Given the description of an element on the screen output the (x, y) to click on. 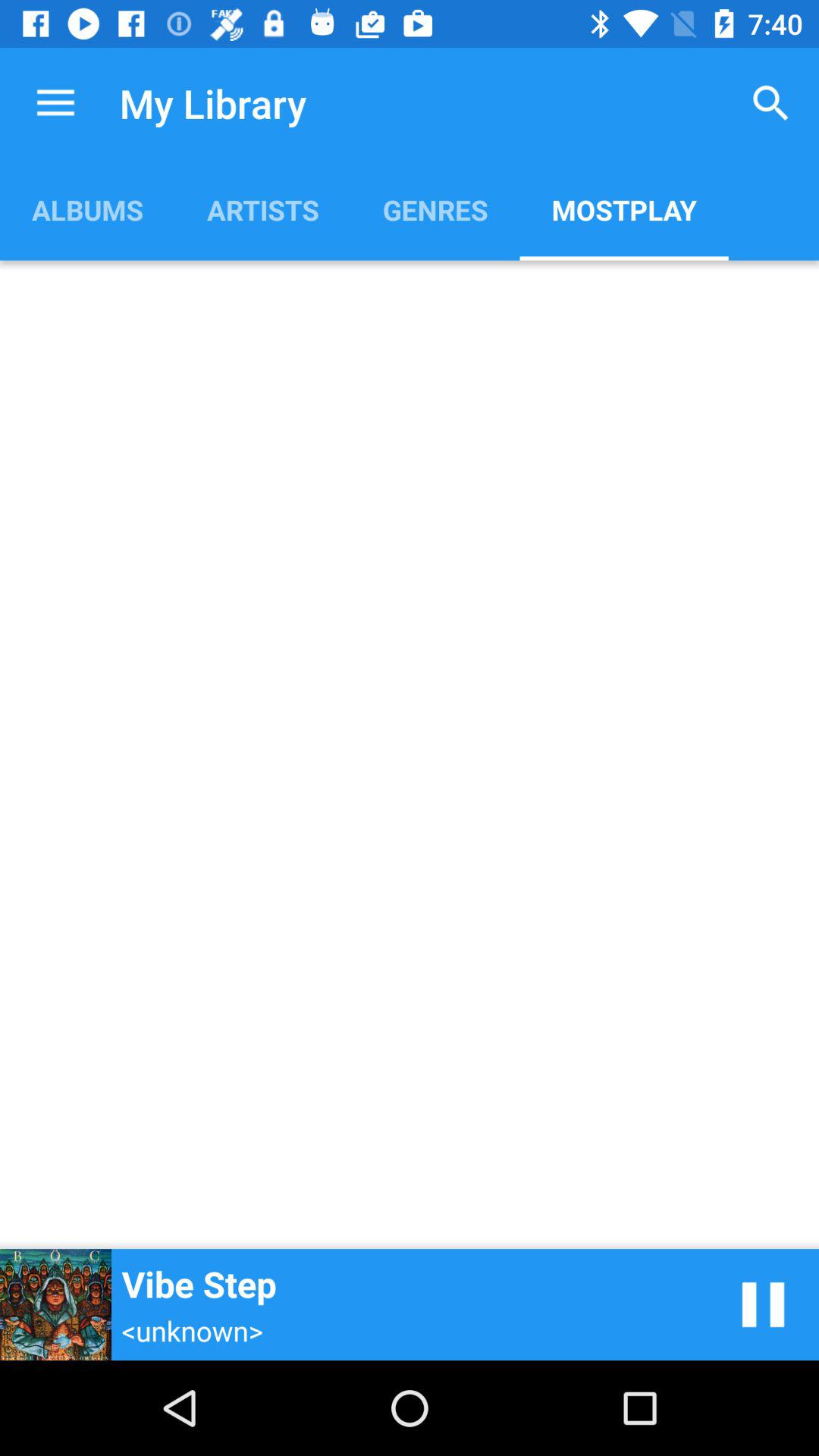
select the albums item (87, 209)
